Given the description of an element on the screen output the (x, y) to click on. 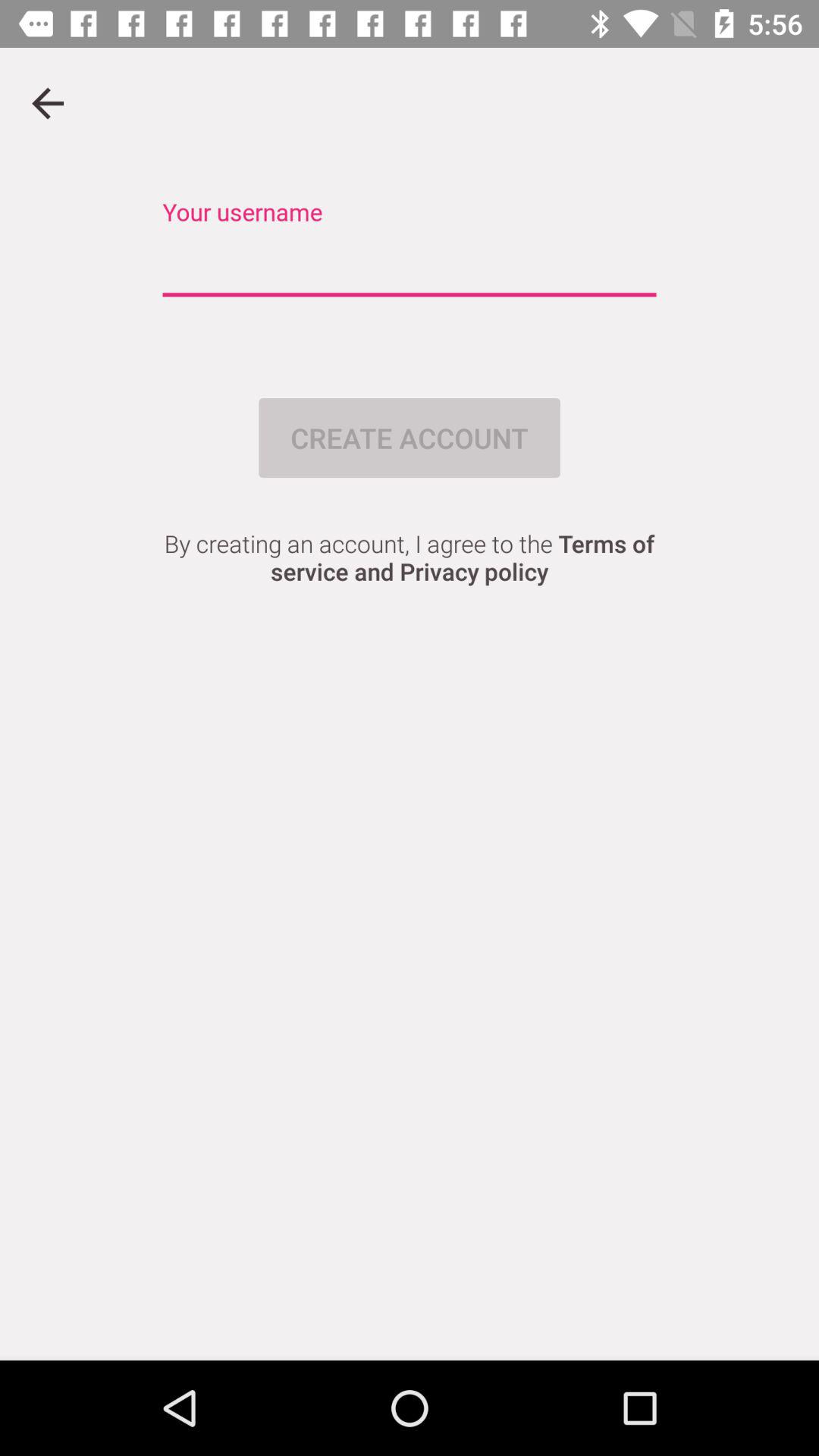
type the username (409, 265)
